Given the description of an element on the screen output the (x, y) to click on. 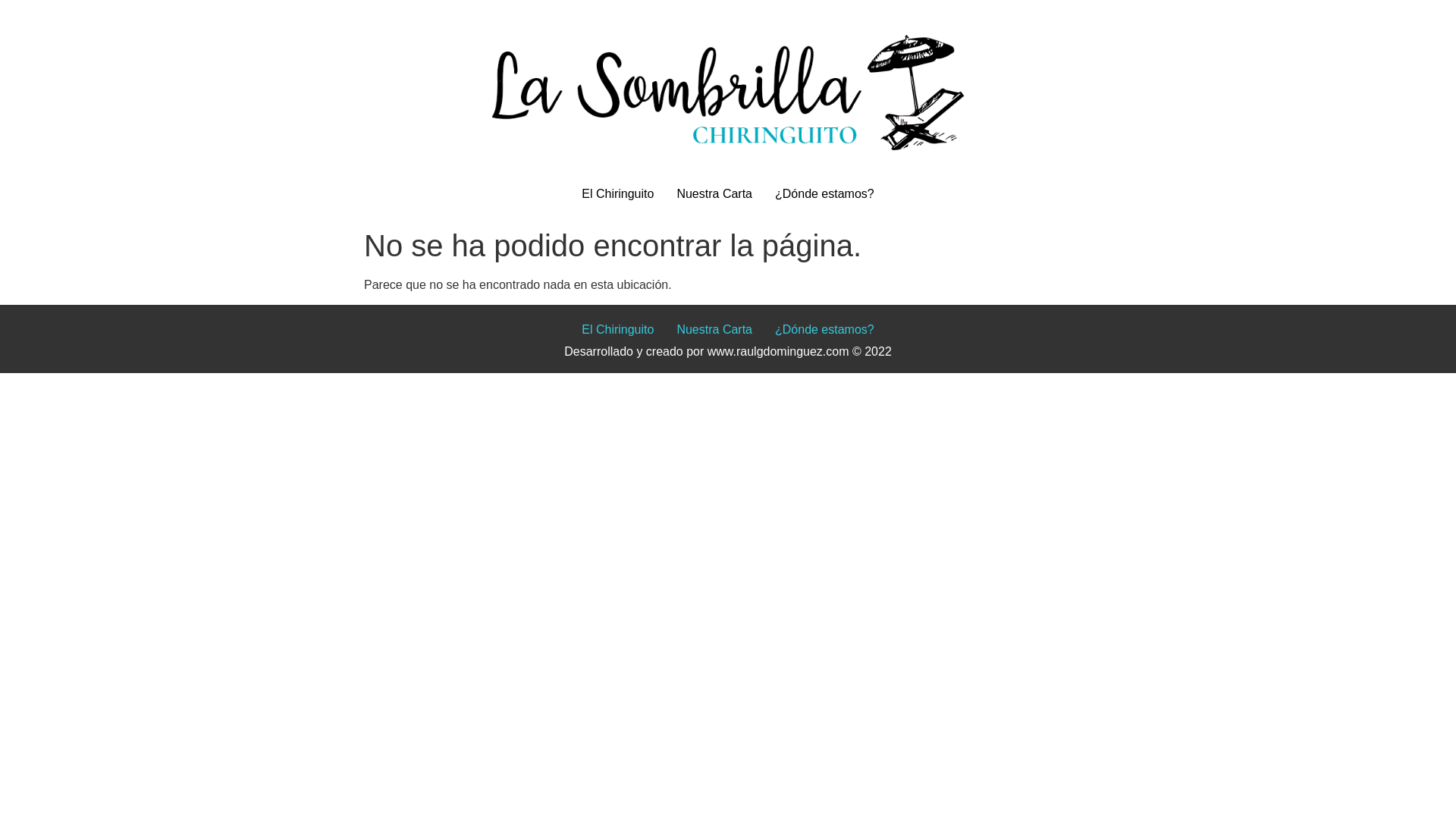
Nuestra Carta (713, 194)
El Chiringuito (617, 329)
Nuestra Carta (713, 329)
El Chiringuito (617, 194)
